Given the description of an element on the screen output the (x, y) to click on. 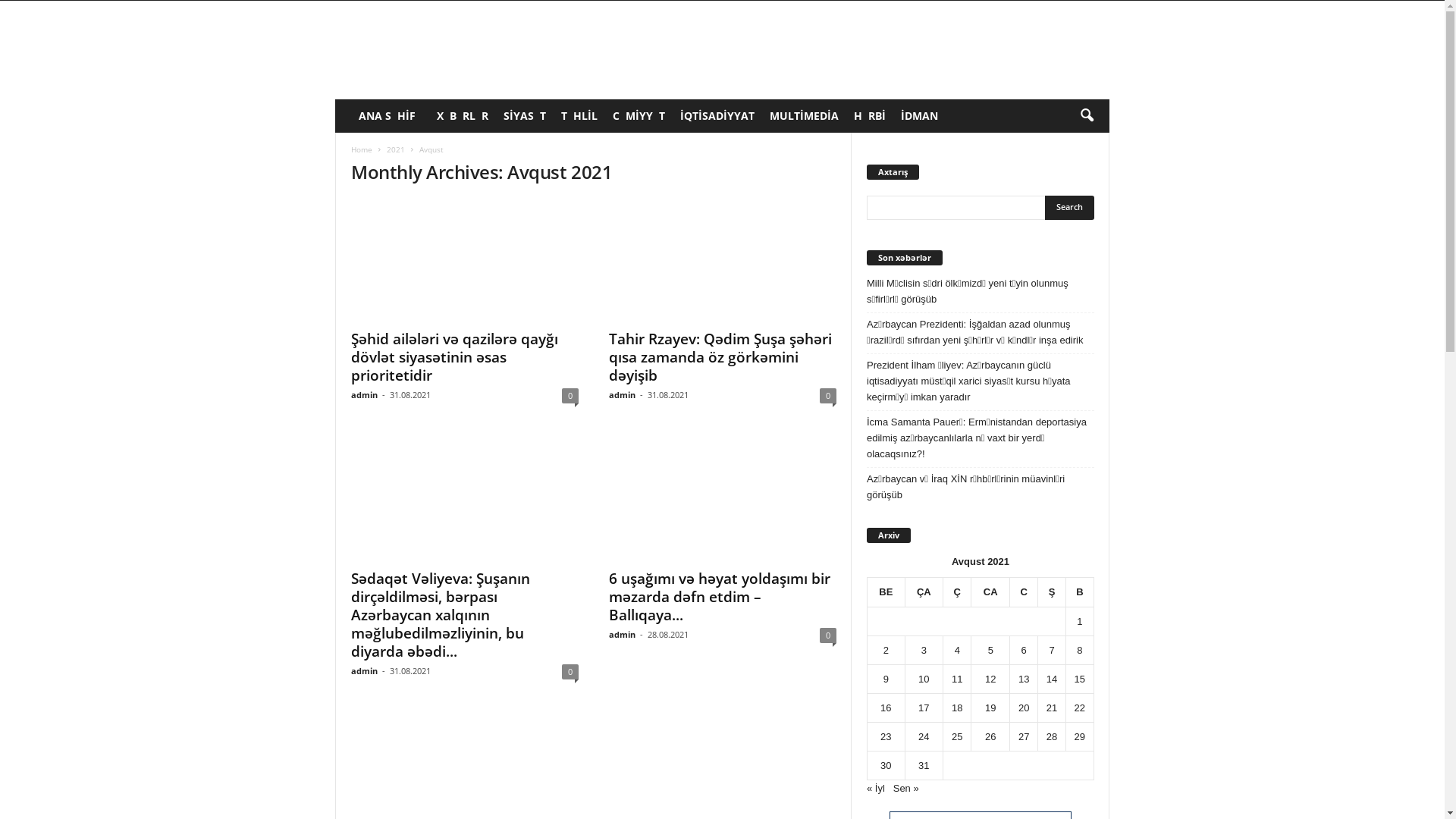
admin Element type: text (621, 634)
16 Element type: text (885, 707)
5 Element type: text (990, 649)
22 Element type: text (1079, 707)
24 Element type: text (923, 736)
15 Element type: text (1079, 678)
19 Element type: text (990, 707)
Home Element type: text (361, 149)
10 Element type: text (923, 678)
11 Element type: text (956, 678)
Search Element type: text (1069, 207)
2 Element type: text (885, 649)
27 Element type: text (1023, 736)
23 Element type: text (885, 736)
admin Element type: text (364, 670)
admin Element type: text (621, 394)
MULTIMEDIA Element type: text (804, 115)
0 Element type: text (569, 395)
17 Element type: text (923, 707)
2021 Element type: text (395, 149)
9 Element type: text (885, 678)
18 Element type: text (956, 707)
0 Element type: text (827, 635)
4 Element type: text (957, 649)
admin Element type: text (364, 394)
8 Element type: text (1079, 649)
31 Element type: text (923, 765)
0 Element type: text (827, 395)
21 Element type: text (1051, 707)
Tan.Az Element type: text (438, 49)
25 Element type: text (956, 736)
28 Element type: text (1051, 736)
0 Element type: text (569, 671)
6 Element type: text (1023, 649)
3 Element type: text (923, 649)
14 Element type: text (1051, 678)
12 Element type: text (990, 678)
1 Element type: text (1079, 621)
26 Element type: text (990, 736)
20 Element type: text (1023, 707)
13 Element type: text (1023, 678)
